Given the description of an element on the screen output the (x, y) to click on. 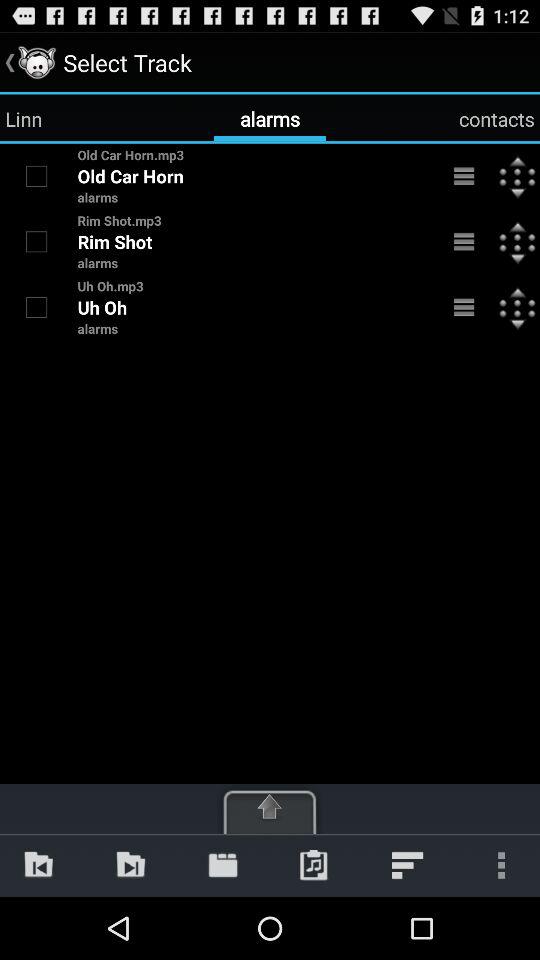
select item (36, 176)
